Given the description of an element on the screen output the (x, y) to click on. 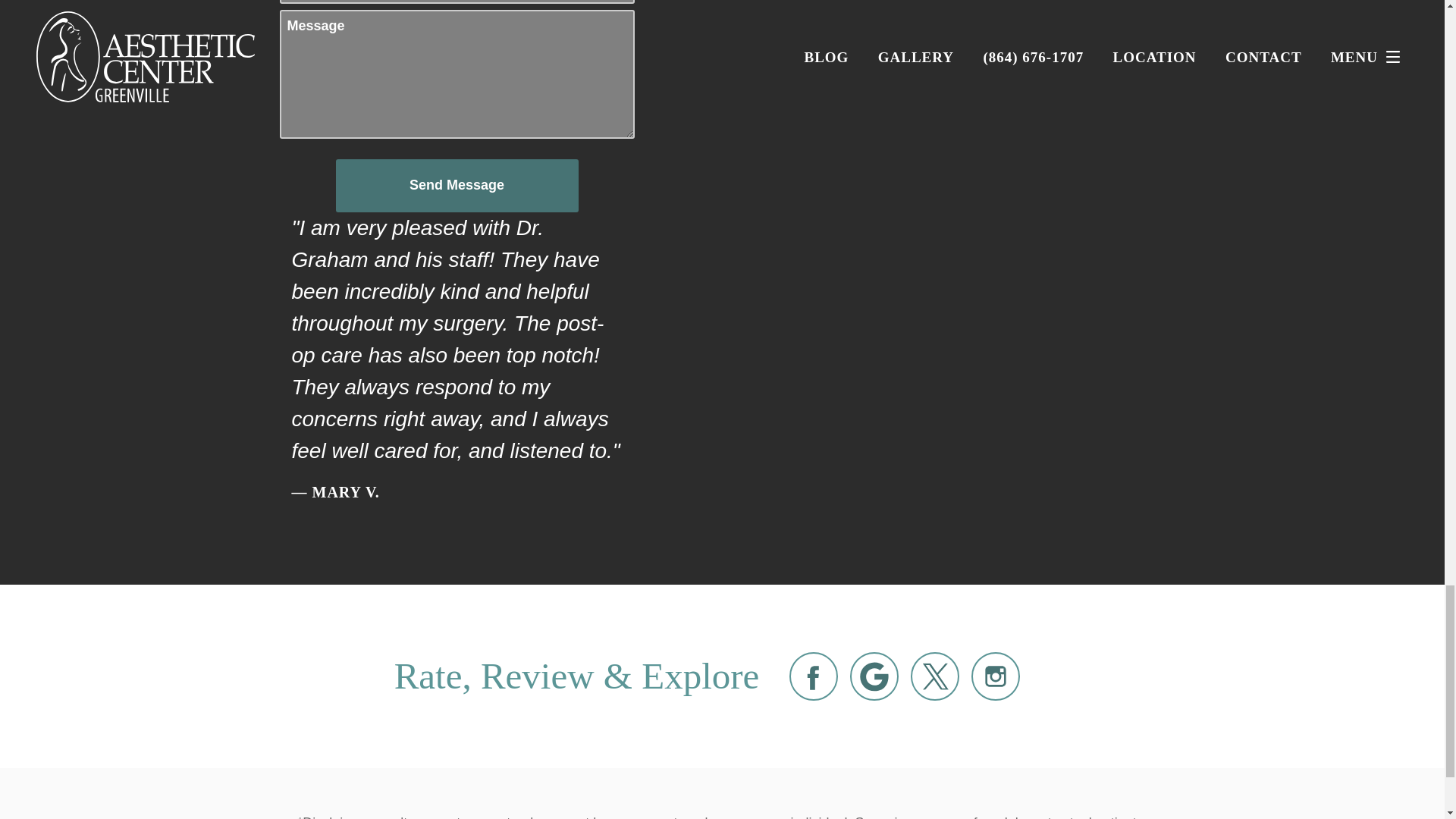
Send Message (456, 185)
Google (874, 676)
Instagram (995, 676)
Twitter (935, 676)
Facebook (813, 676)
